Given the description of an element on the screen output the (x, y) to click on. 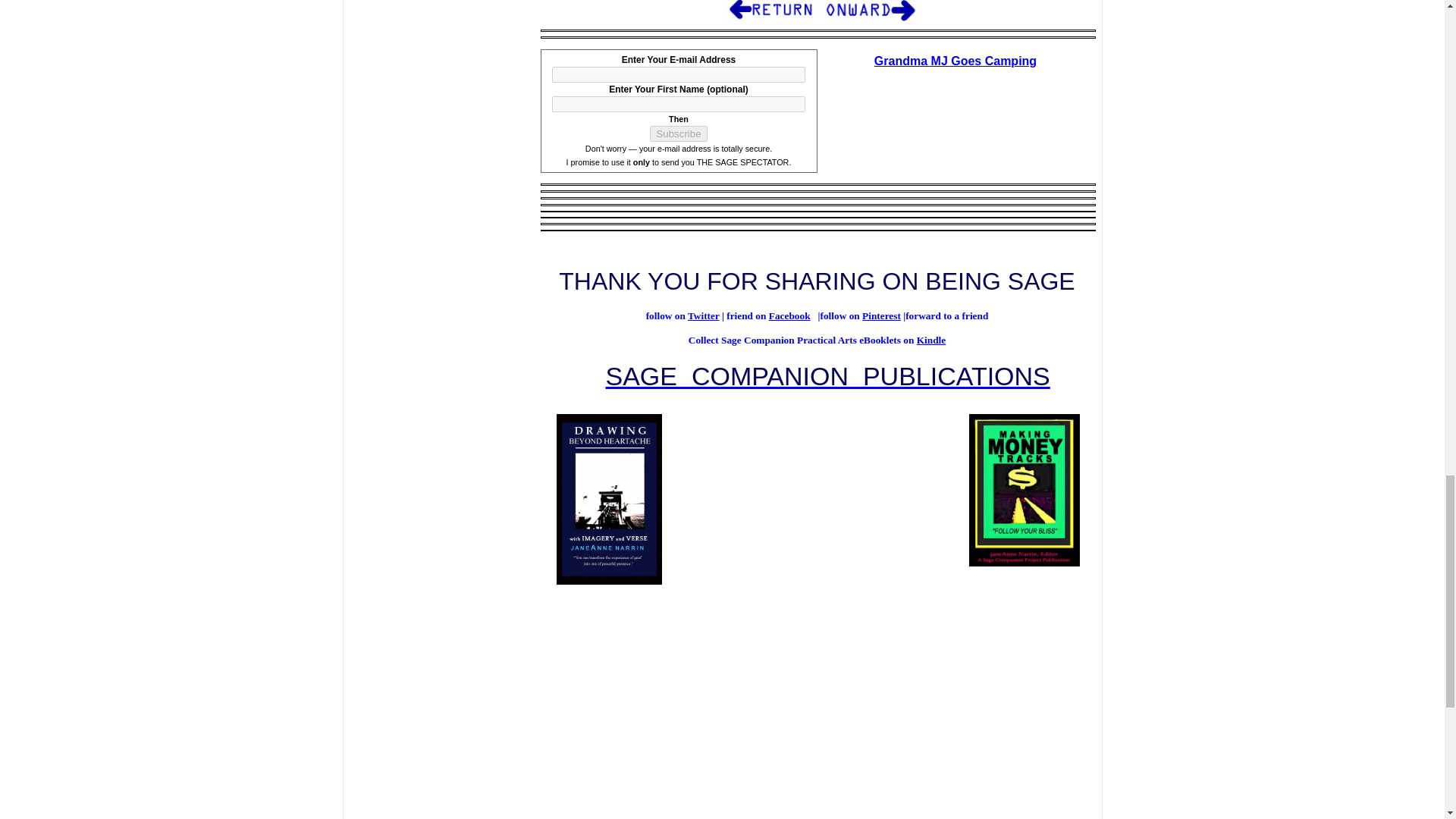
Grandma MJ Goes Camping (955, 60)
Facebook (789, 315)
Kindle (931, 339)
Twitter (703, 315)
Go to Columnists- SURPRISING FINDINGS Award-Winning Cast (768, 16)
Go to GrandmaMJ-2  Out Camping (868, 18)
SAGE  COMPANION  PUBLICATIONS (827, 375)
Subscribe (677, 133)
Pinterest (881, 315)
